Given the description of an element on the screen output the (x, y) to click on. 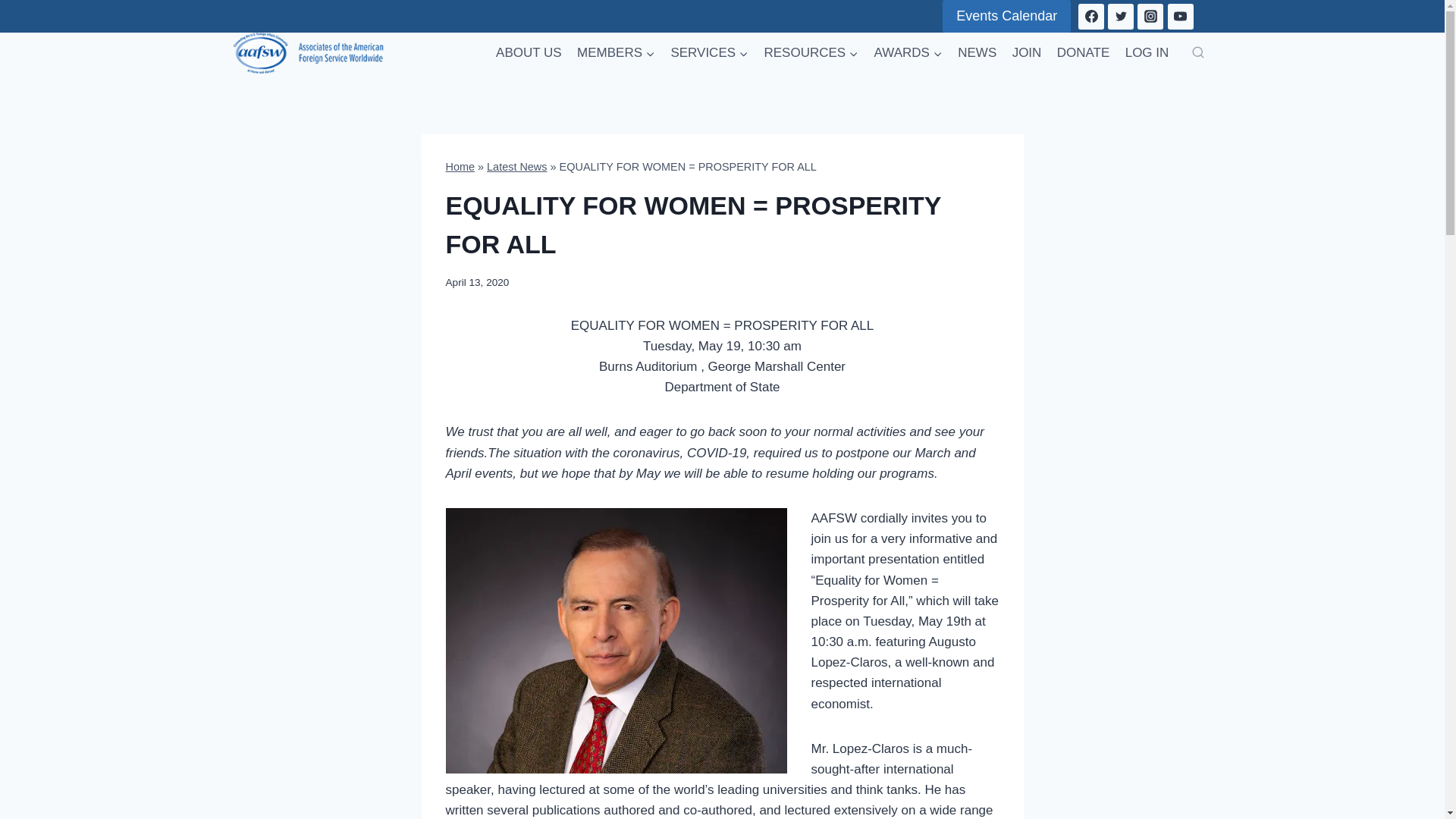
DONATE (1083, 53)
AWARDS (908, 53)
SERVICES (708, 53)
RESOURCES (810, 53)
JOIN (1026, 53)
LOG IN (1147, 53)
NEWS (977, 53)
Events Calendar (1006, 16)
ABOUT US (528, 53)
MEMBERS (615, 53)
